Given the description of an element on the screen output the (x, y) to click on. 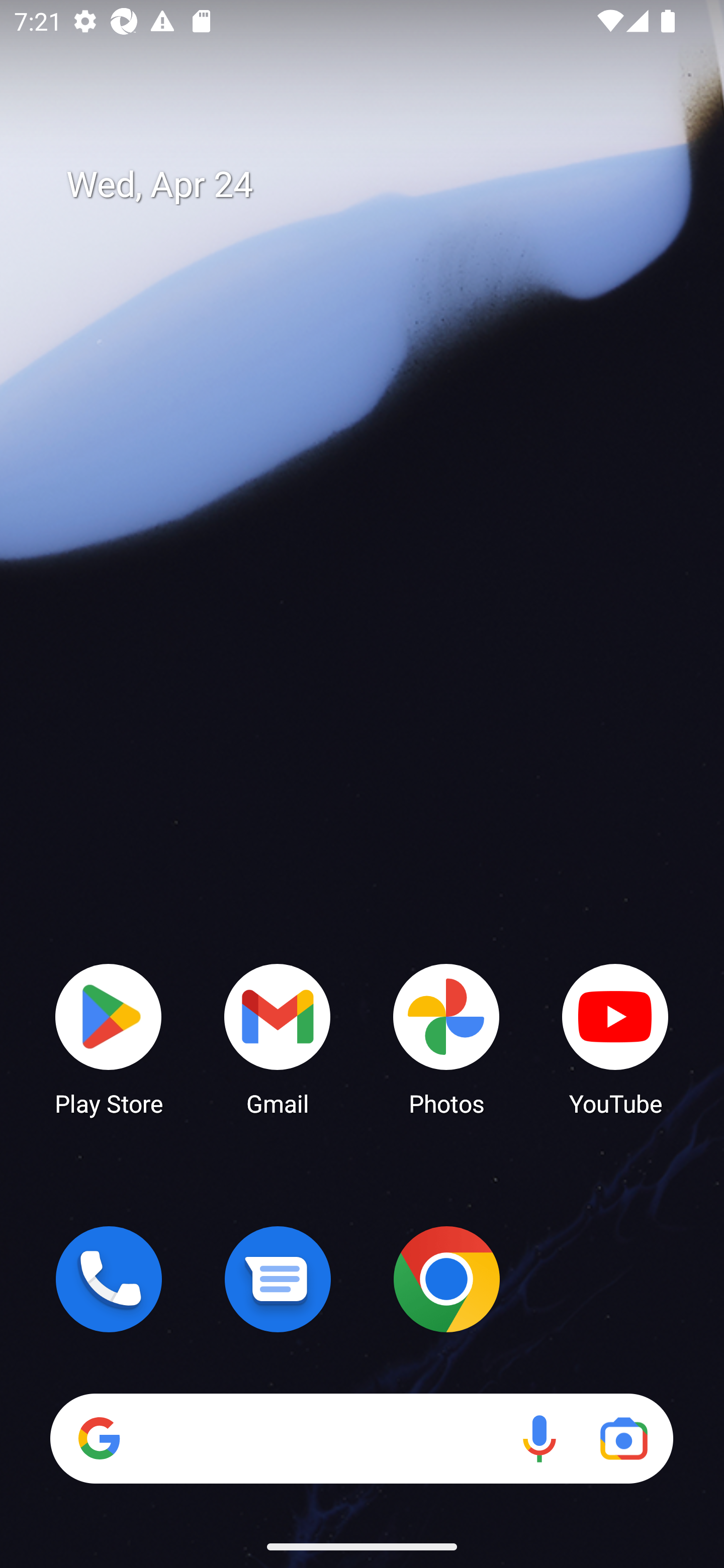
Wed, Apr 24 (375, 184)
Play Store (108, 1038)
Gmail (277, 1038)
Photos (445, 1038)
YouTube (615, 1038)
Phone (108, 1279)
Messages (277, 1279)
Chrome (446, 1279)
Search Voice search Google Lens (361, 1438)
Voice search (539, 1438)
Google Lens (623, 1438)
